Given the description of an element on the screen output the (x, y) to click on. 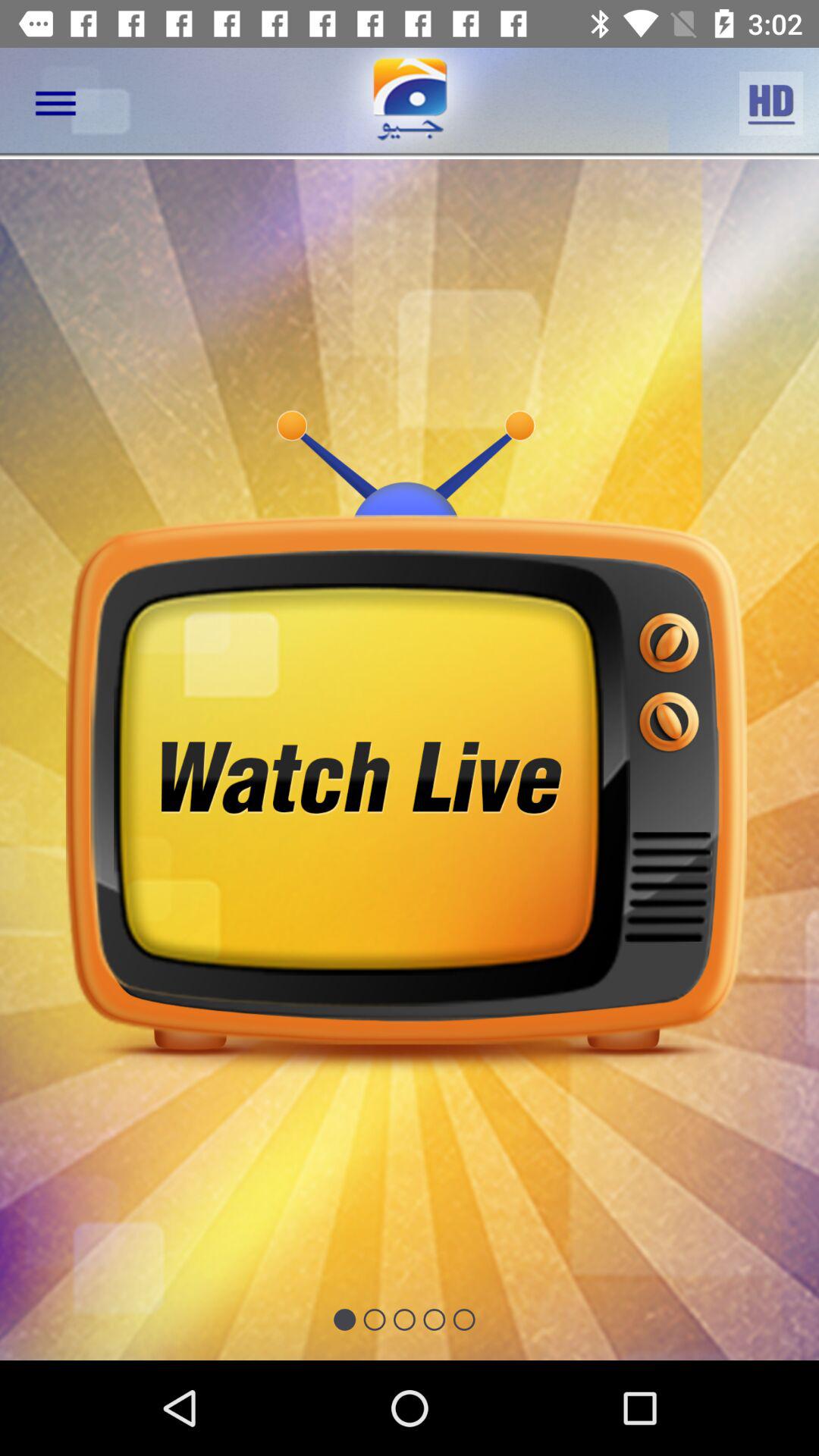
watch live video (409, 759)
